Given the description of an element on the screen output the (x, y) to click on. 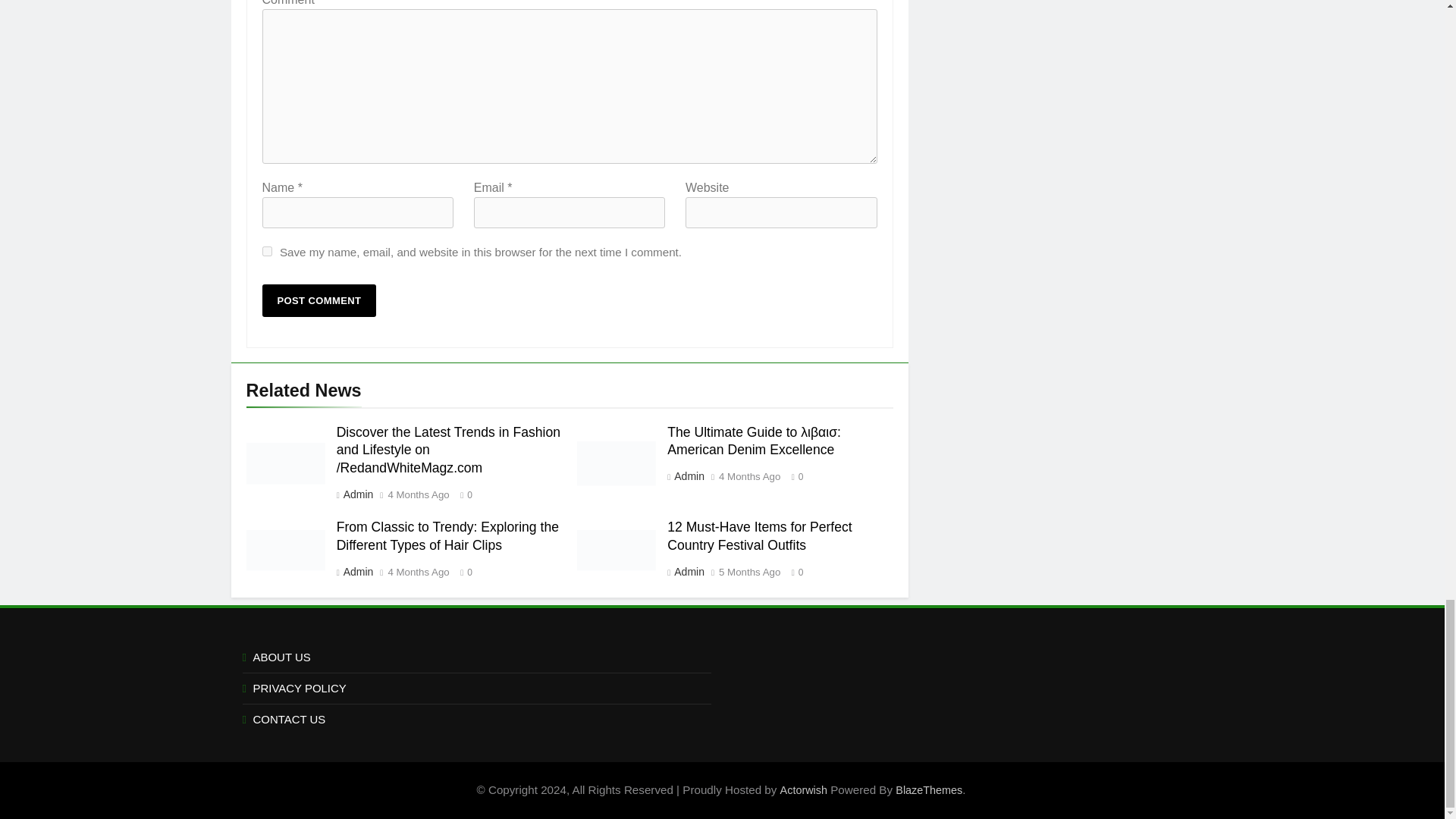
yes (267, 251)
Post Comment (319, 300)
